Given the description of an element on the screen output the (x, y) to click on. 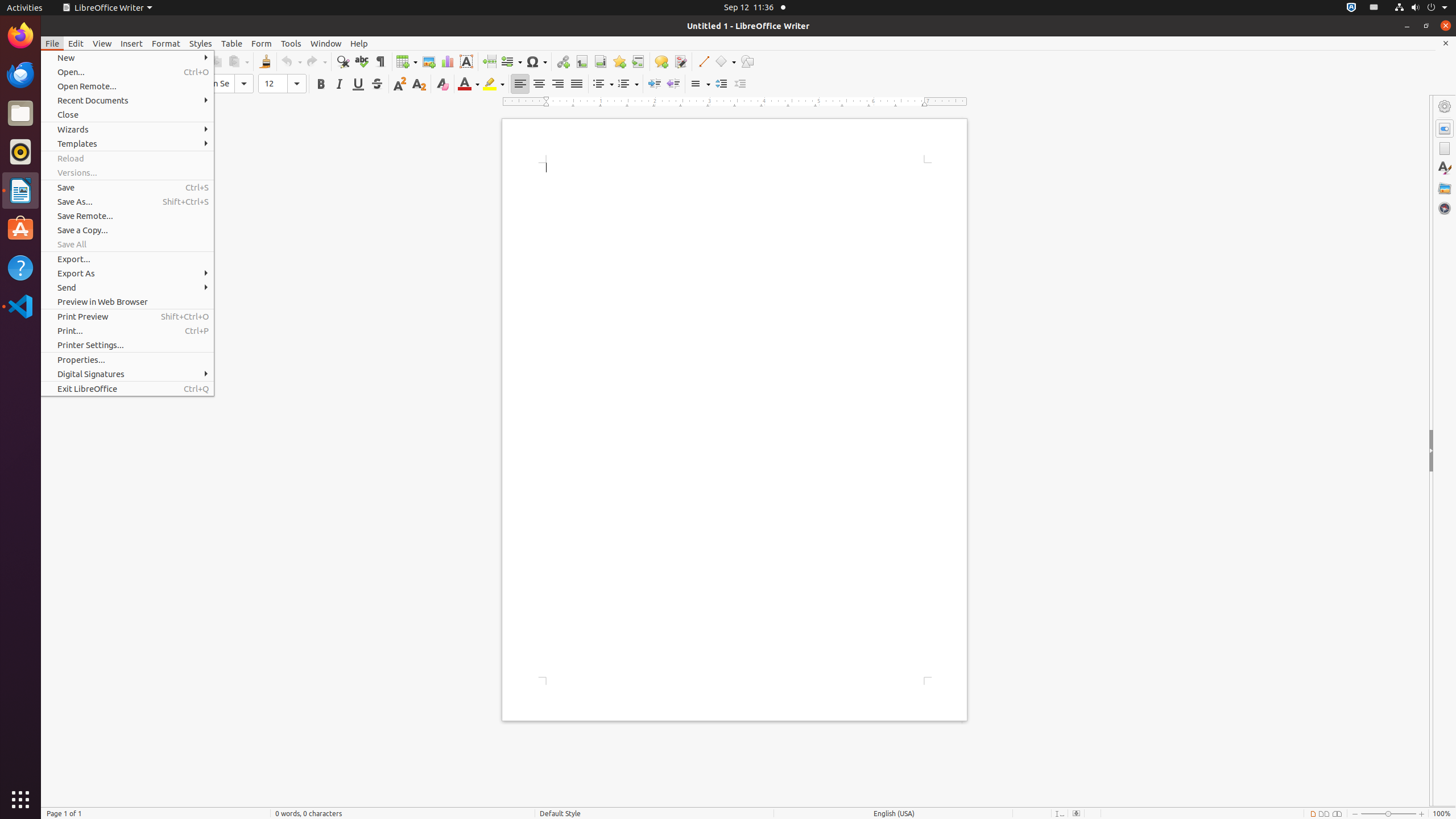
View Element type: menu (102, 43)
Properties... Element type: menu-item (126, 359)
Export... Element type: menu-item (126, 258)
Clear Element type: push-button (441, 83)
Undo Element type: push-button (290, 61)
